Given the description of an element on the screen output the (x, y) to click on. 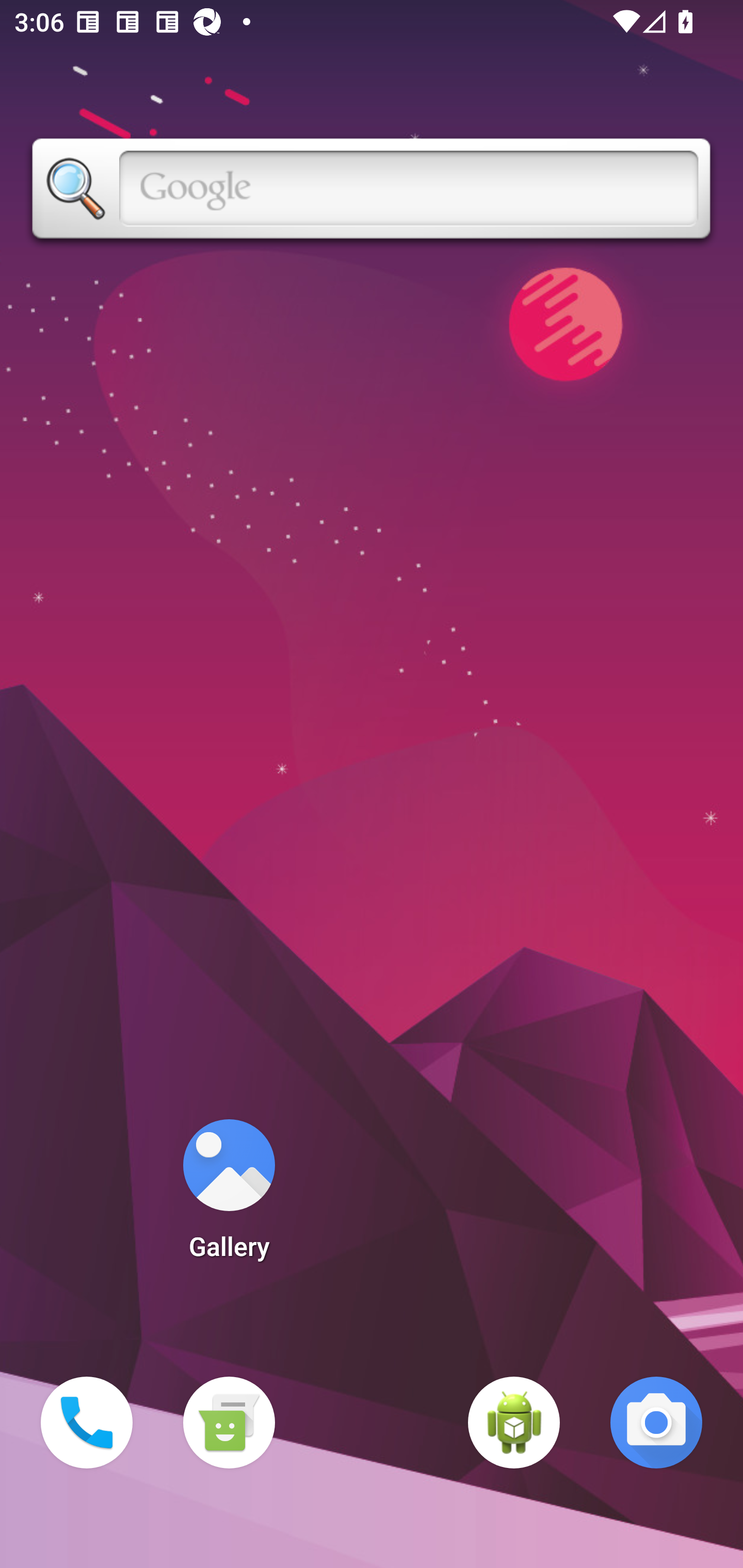
Gallery (228, 1195)
Phone (86, 1422)
Messaging (228, 1422)
WebView Browser Tester (513, 1422)
Camera (656, 1422)
